Given the description of an element on the screen output the (x, y) to click on. 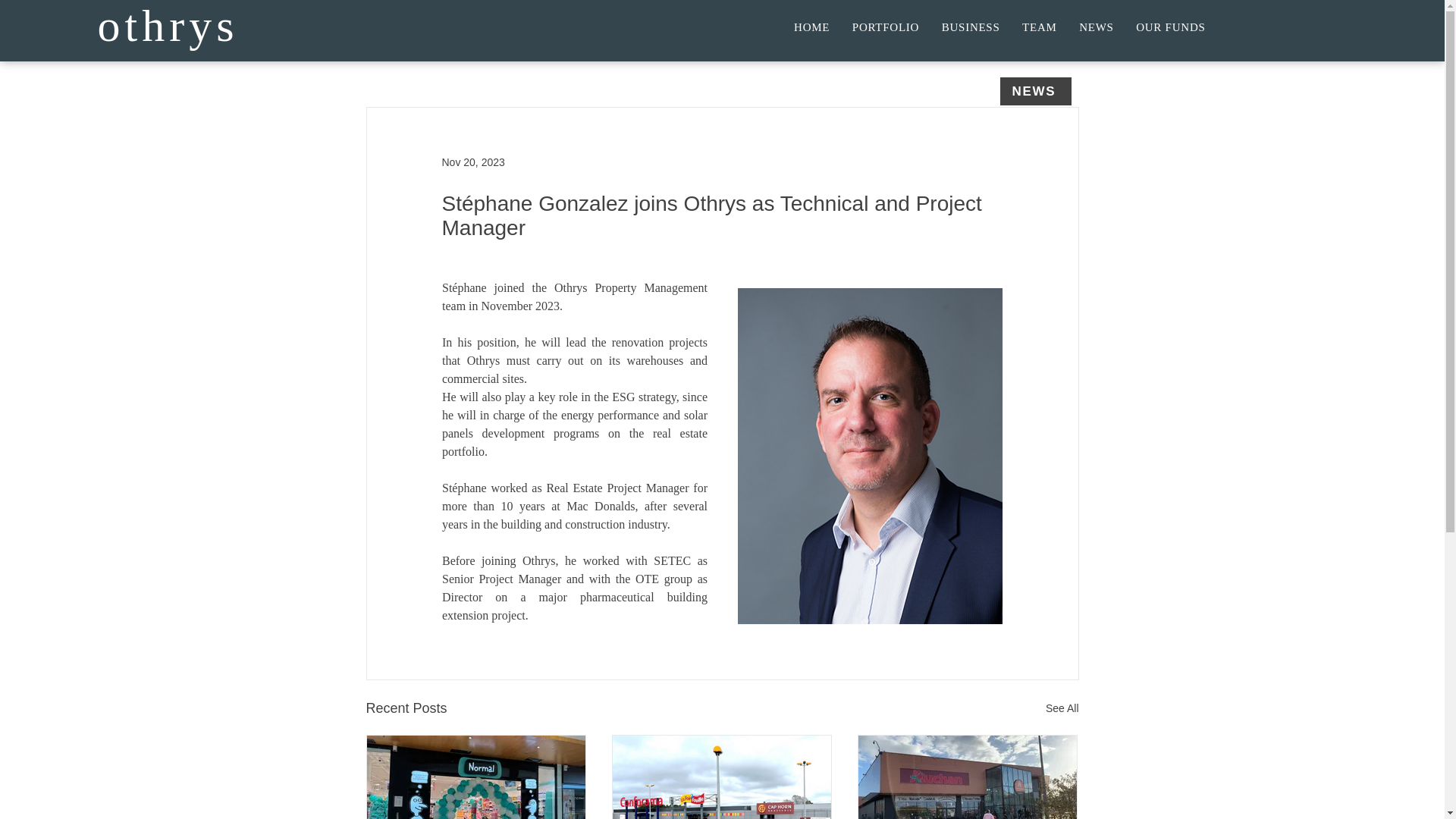
PORTFOLIO (885, 27)
Nov 20, 2023 (472, 162)
BUSINESS (970, 27)
NEWS (1034, 90)
See All (1061, 708)
NEWS (1095, 27)
TEAM (1038, 27)
OUR FUNDS (1169, 27)
HOME (812, 27)
othrys (167, 25)
